Given the description of an element on the screen output the (x, y) to click on. 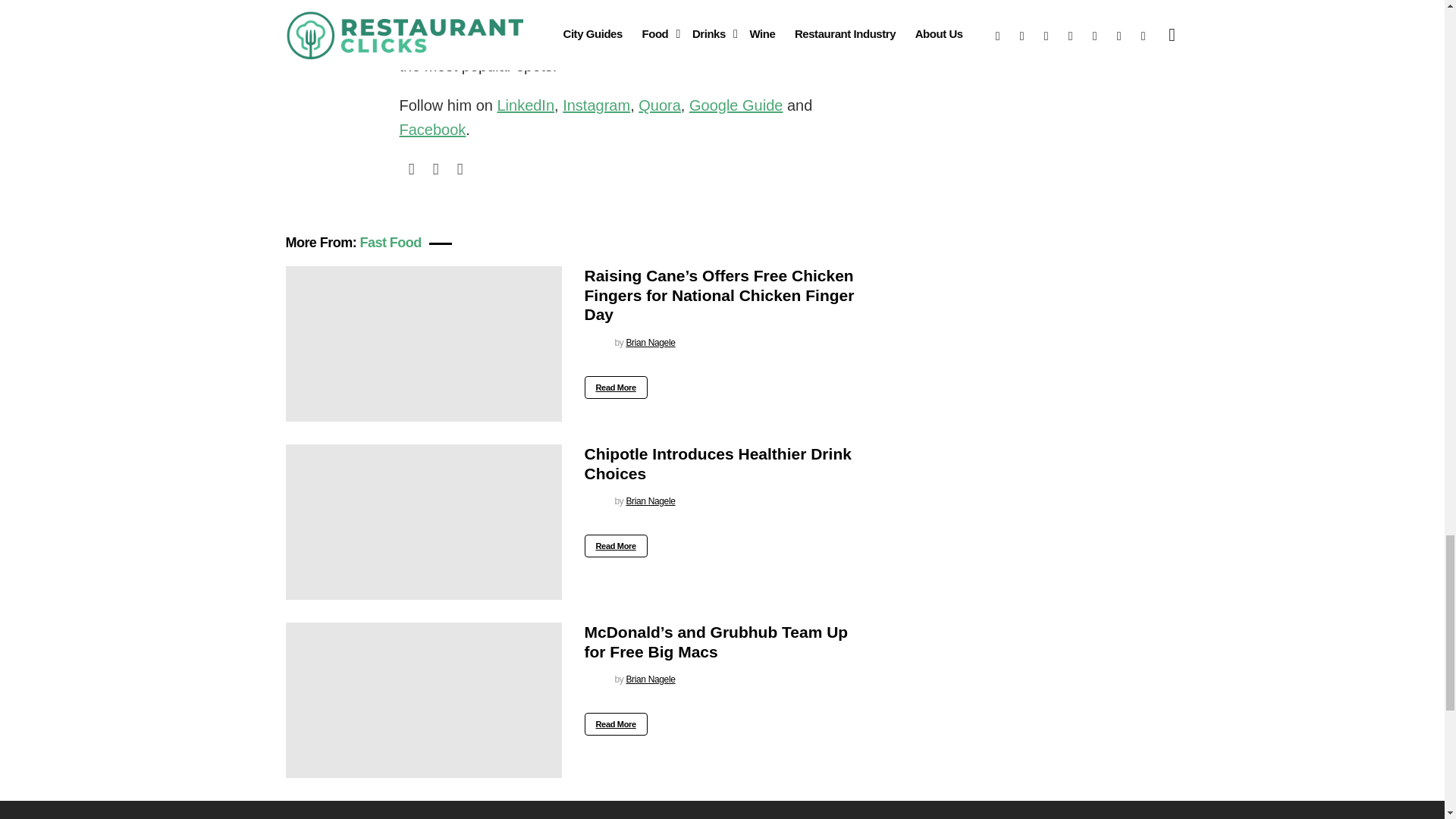
Posts by Brian Nagele (650, 501)
Chipotle Introduces Healthier Drink Choices (422, 521)
Posts by Brian Nagele (650, 342)
Posts by Brian Nagele (650, 679)
